Given the description of an element on the screen output the (x, y) to click on. 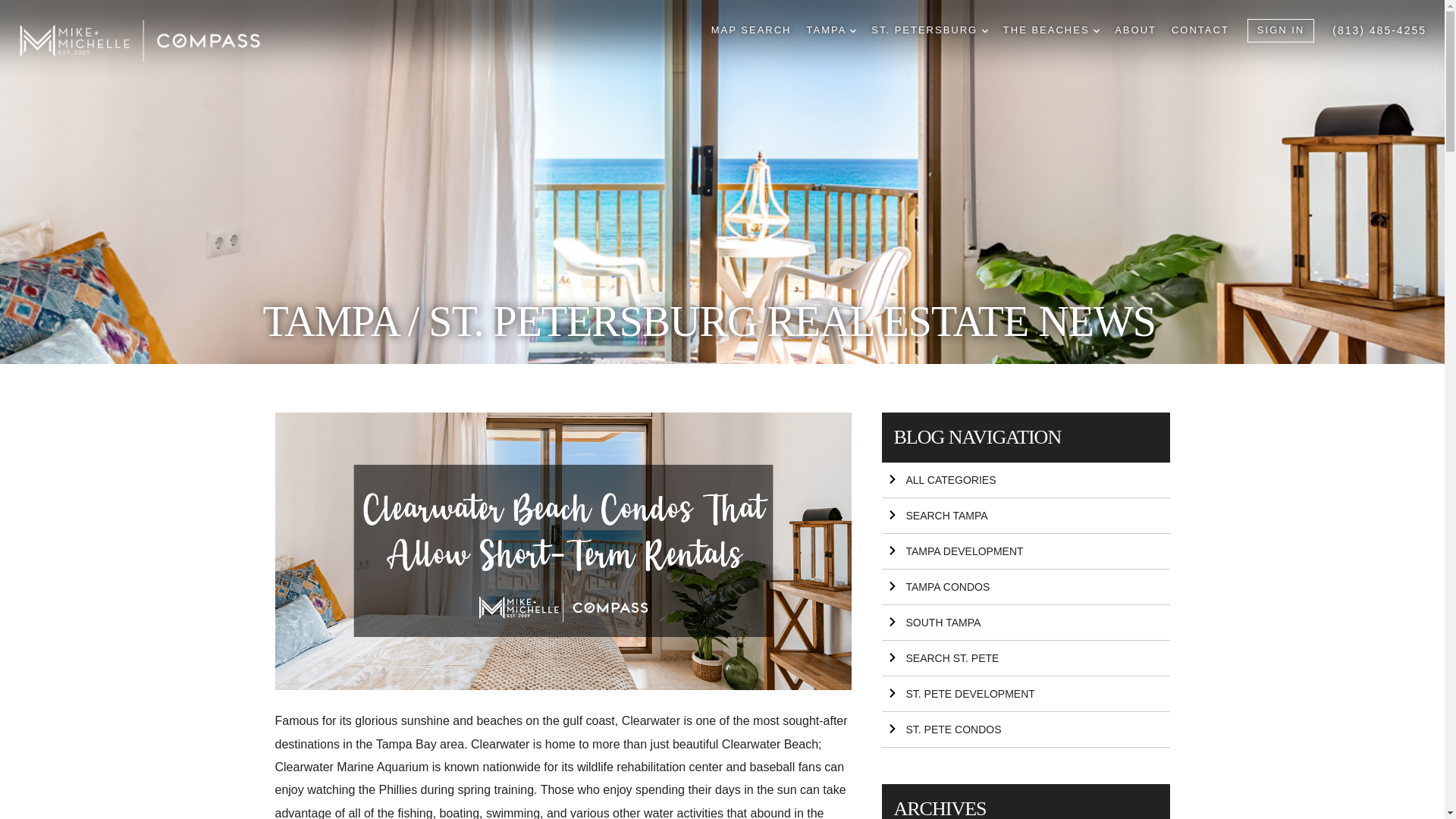
CONTACT (1200, 30)
ST. PETERSBURG DROPDOWN ARROW (929, 30)
ABOUT (1135, 30)
TAMPA DROPDOWN ARROW (831, 30)
MAP SEARCH (751, 30)
THE BEACHES DROPDOWN ARROW (1051, 30)
DROPDOWN ARROW (853, 30)
DROPDOWN ARROW (1096, 30)
DROPDOWN ARROW (984, 30)
